Given the description of an element on the screen output the (x, y) to click on. 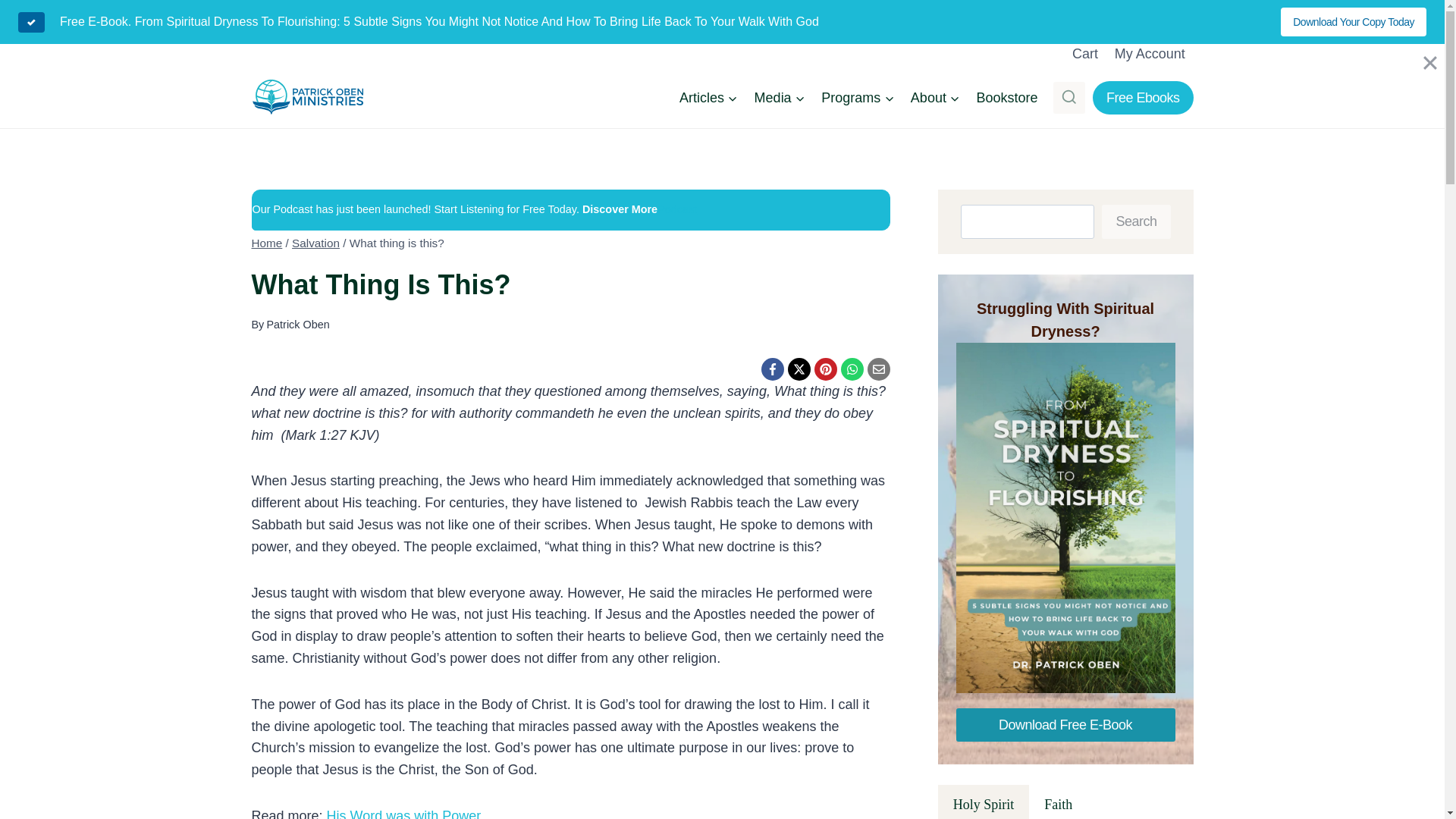
Salvation (315, 242)
Home (266, 242)
Free Ebooks (1143, 97)
Media (779, 97)
Podcast (677, 209)
Patrick Oben (297, 324)
Bookstore (1007, 97)
Cart (1085, 53)
About (935, 97)
Articles (708, 97)
Programs (857, 97)
My Account (1149, 53)
